Given the description of an element on the screen output the (x, y) to click on. 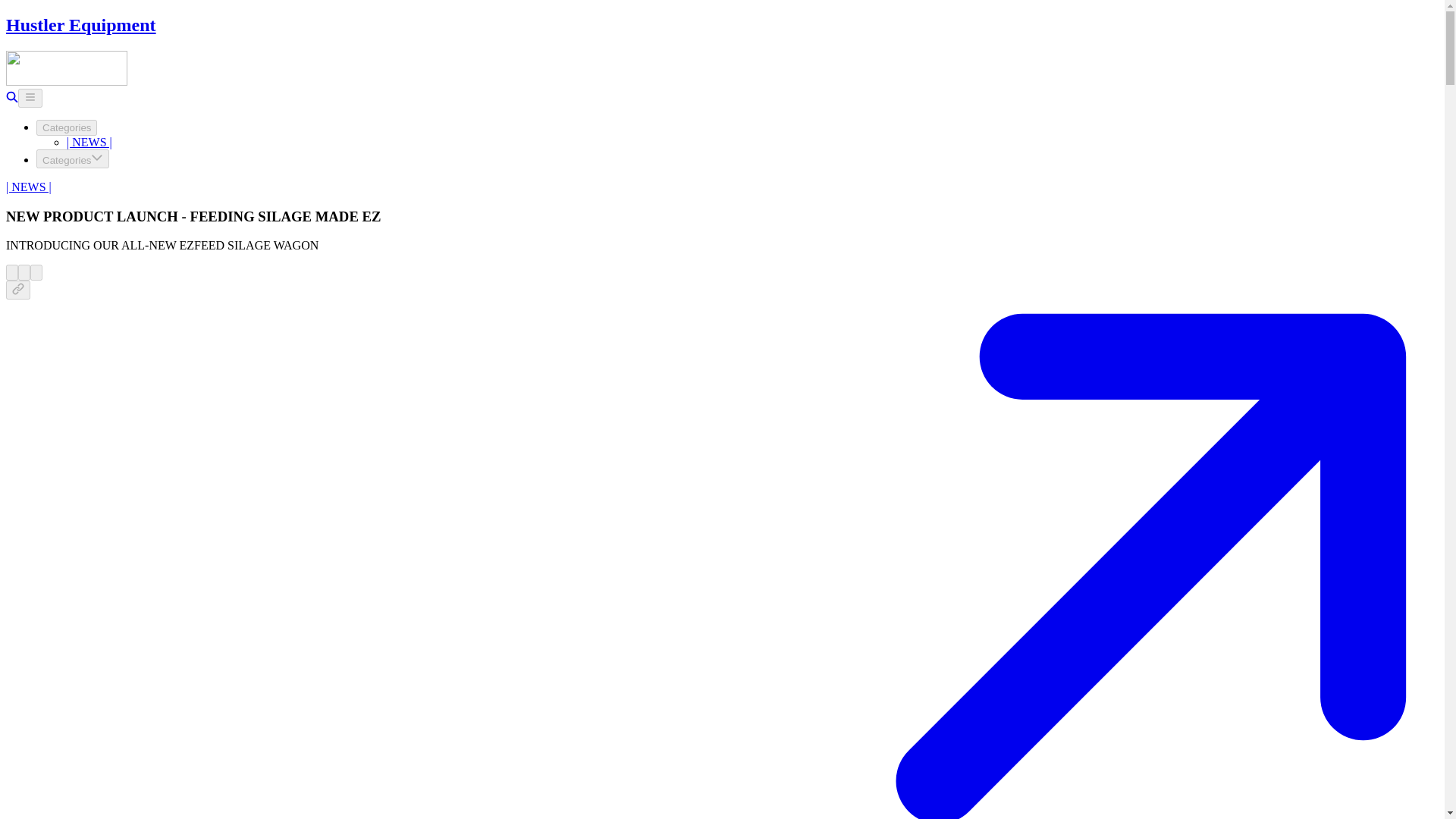
Categories (66, 127)
Copy URL (17, 289)
Toggle navigation (29, 97)
Categories (72, 158)
Search (11, 98)
